Given the description of an element on the screen output the (x, y) to click on. 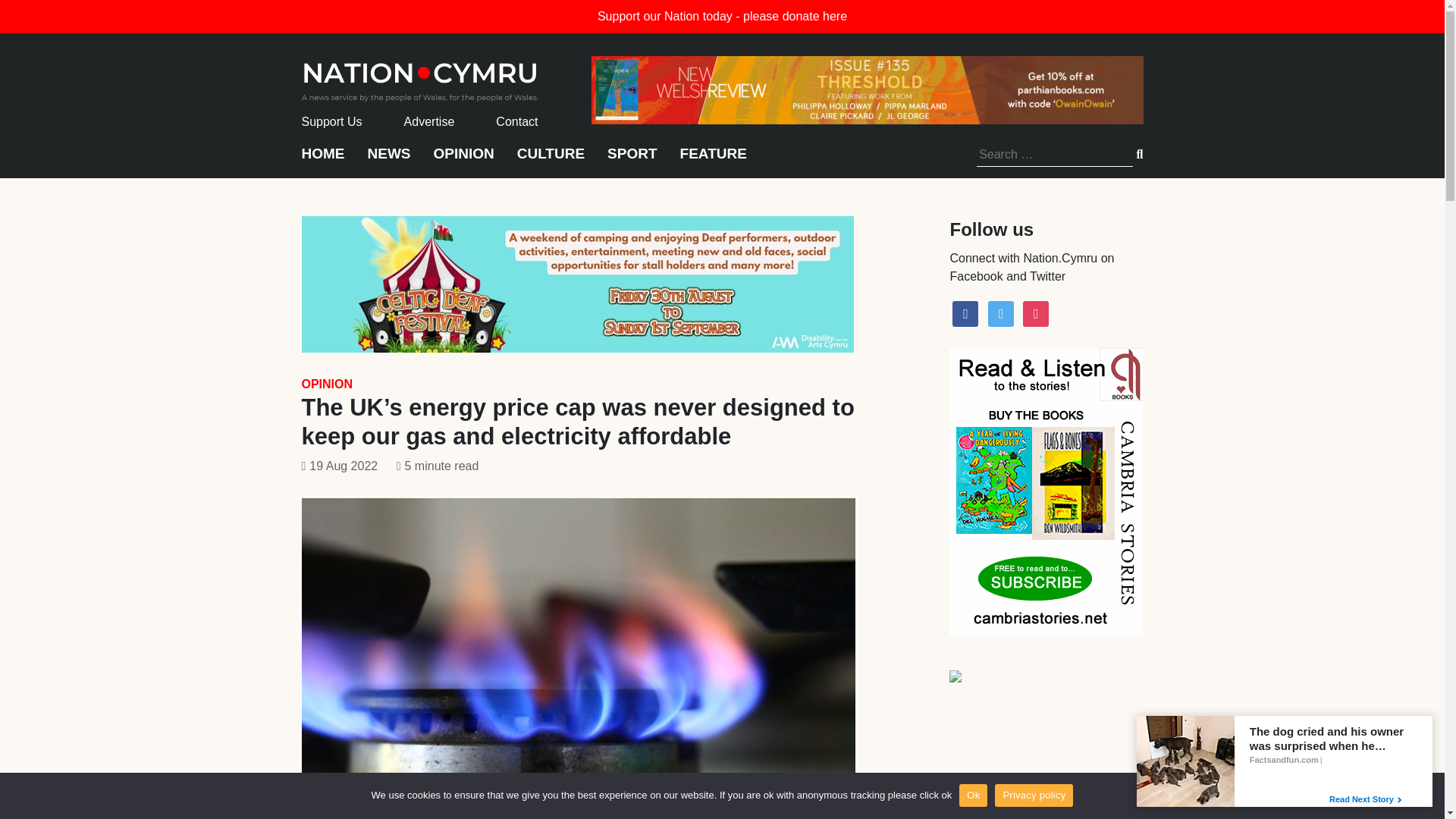
Advertise (429, 121)
HOME (323, 160)
FEATURE (712, 160)
Contact (516, 121)
OPINION (464, 160)
NEWS (388, 160)
home (419, 77)
SPORT (631, 160)
OPINION (327, 383)
Support Us (331, 121)
CULTURE (550, 160)
